Given the description of an element on the screen output the (x, y) to click on. 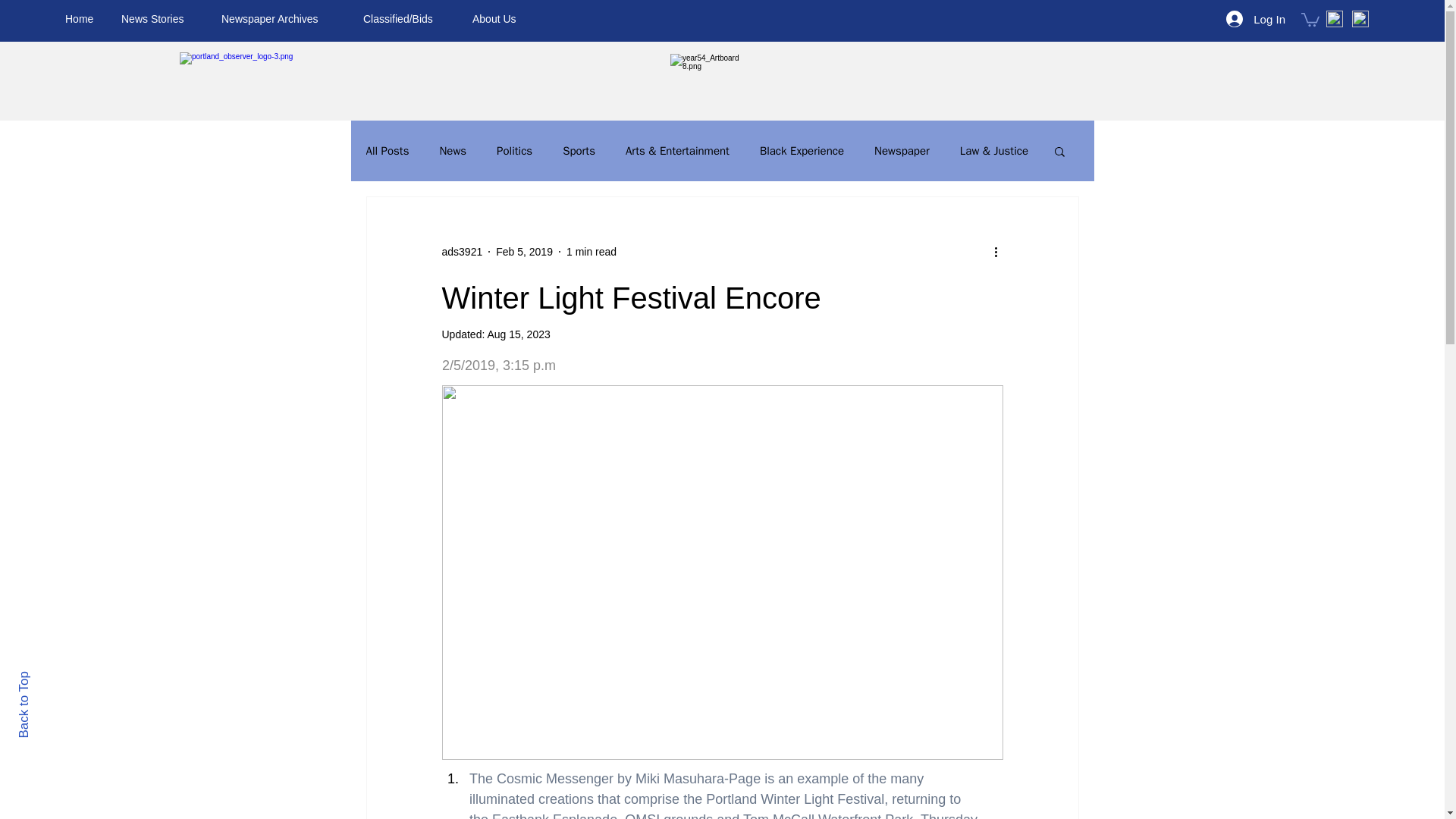
Politics (514, 151)
Sports (578, 151)
Aug 15, 2023 (518, 334)
1 min read (590, 251)
About Us (499, 18)
Log In (1255, 18)
News Stories (159, 18)
All Posts (387, 151)
Newspaper Archives (280, 18)
Newspaper (902, 151)
